Given the description of an element on the screen output the (x, y) to click on. 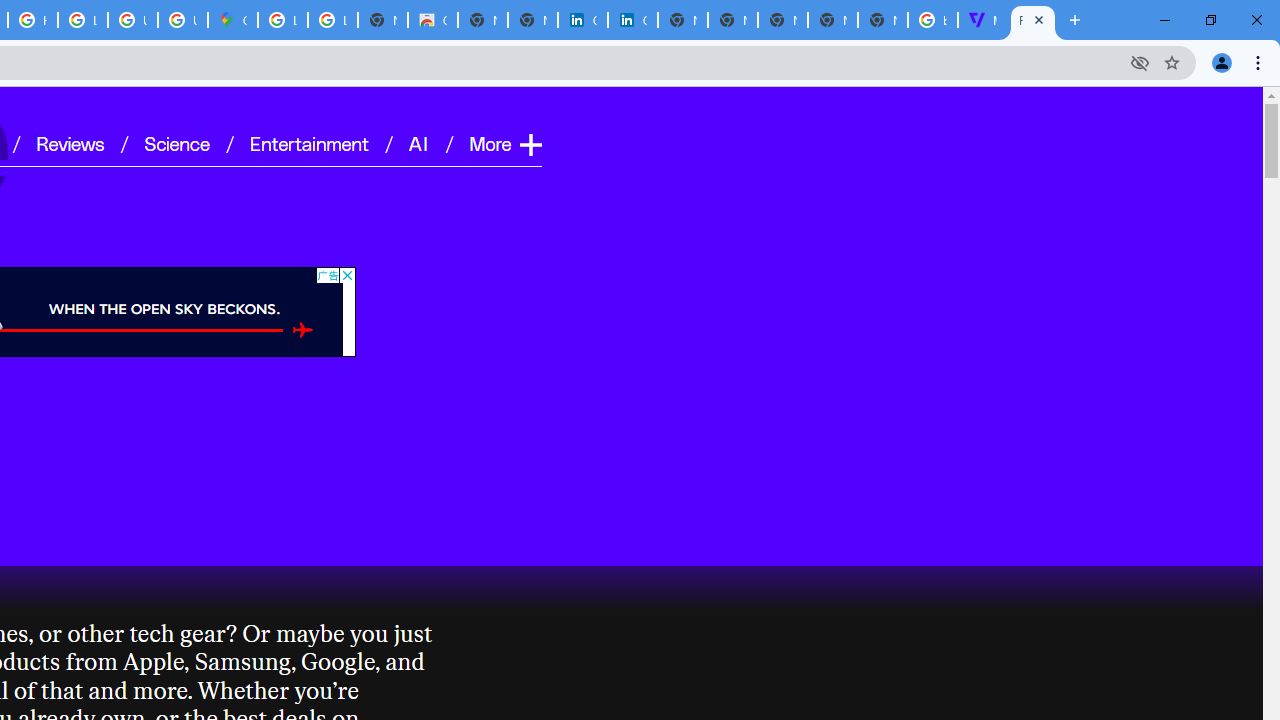
Entertainment (309, 142)
Science (176, 142)
Expand (529, 144)
Google Maps (232, 20)
Reviews - The Verge (1032, 20)
Cookie Policy | LinkedIn (632, 20)
